Given the description of an element on the screen output the (x, y) to click on. 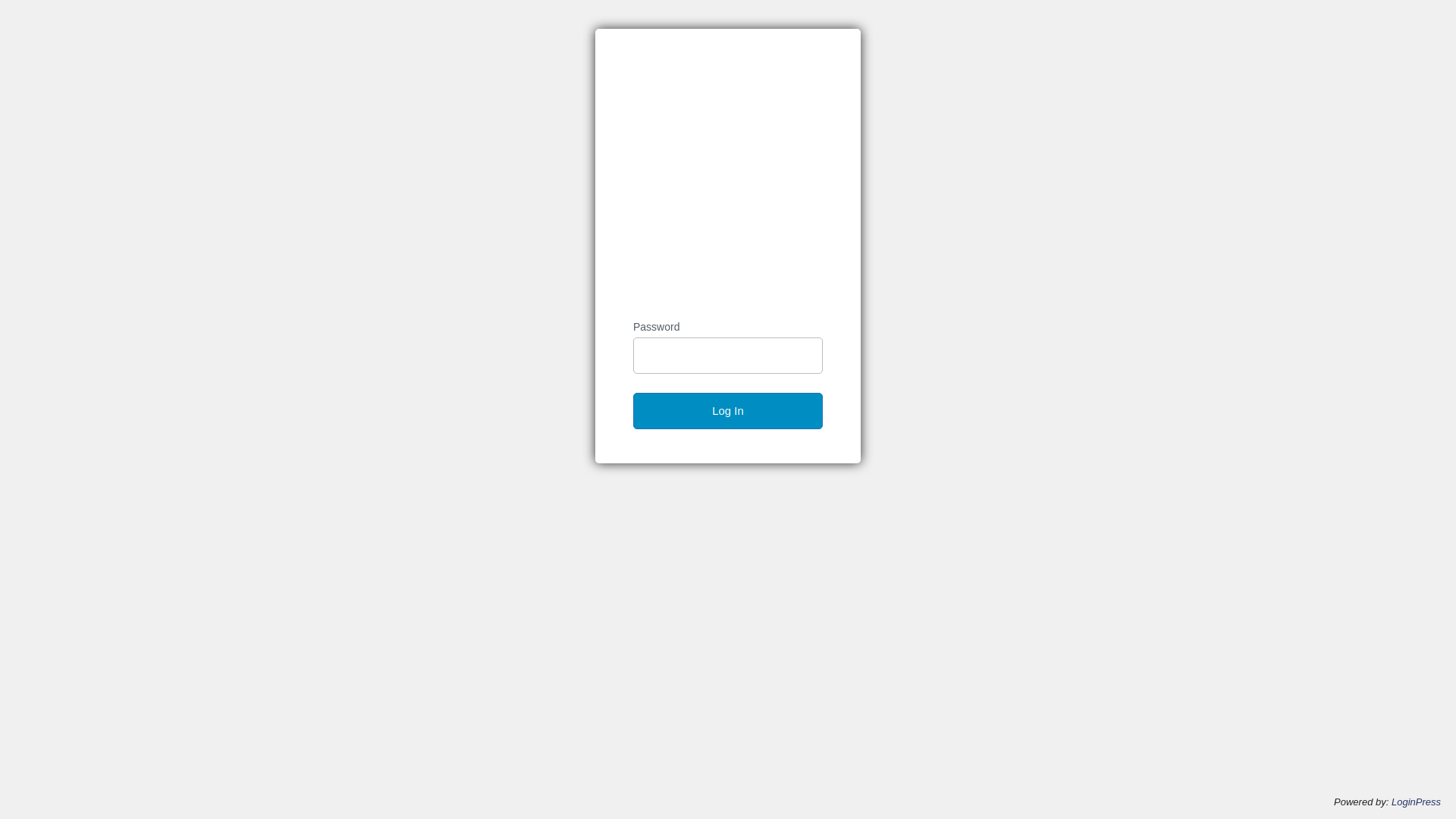
21st Century Simple Living Element type: text (734, 174)
LoginPress Element type: text (1415, 801)
Log In Element type: text (727, 410)
